Given the description of an element on the screen output the (x, y) to click on. 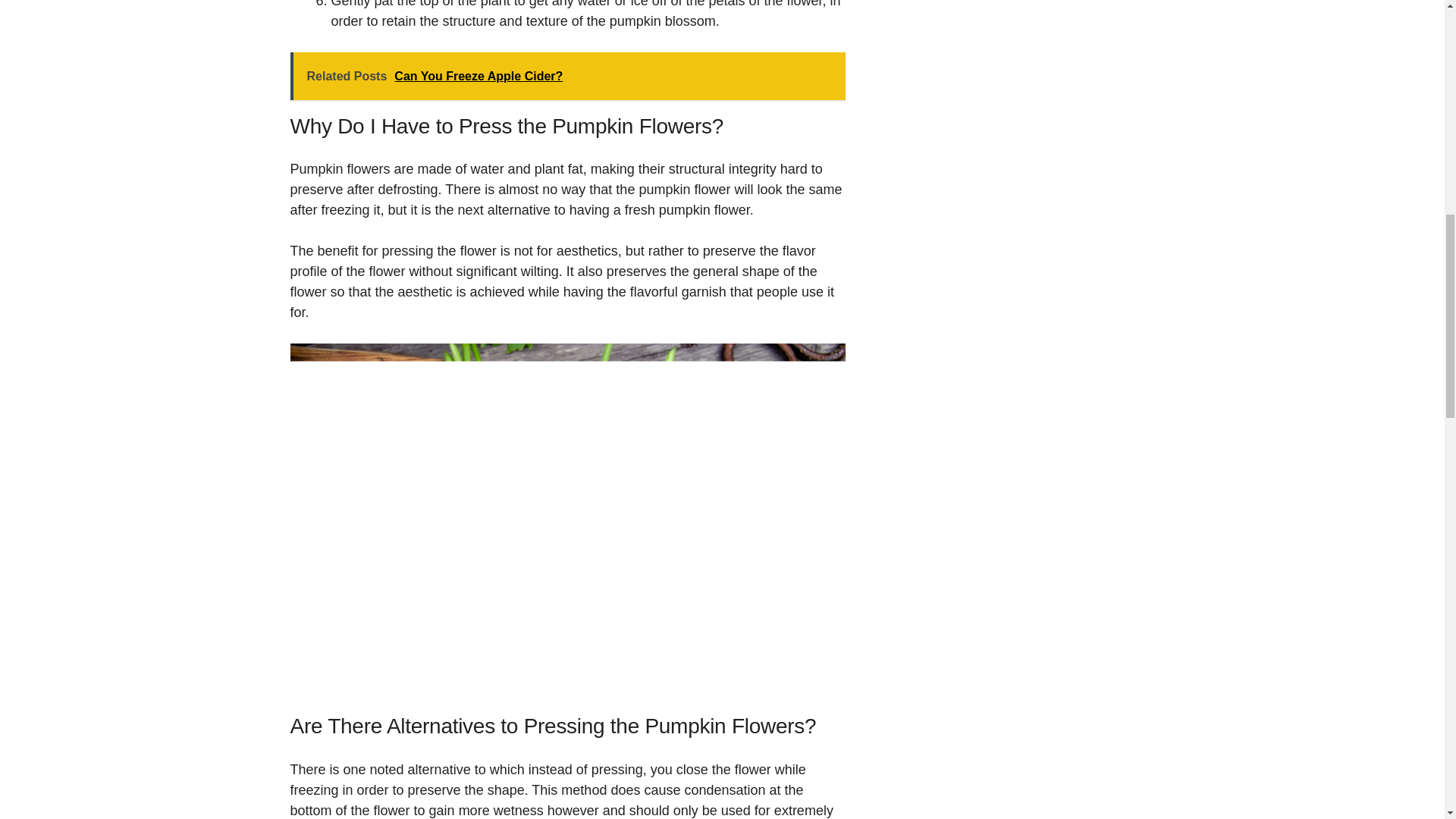
Related Posts  Can You Freeze Apple Cider? (566, 75)
